Given the description of an element on the screen output the (x, y) to click on. 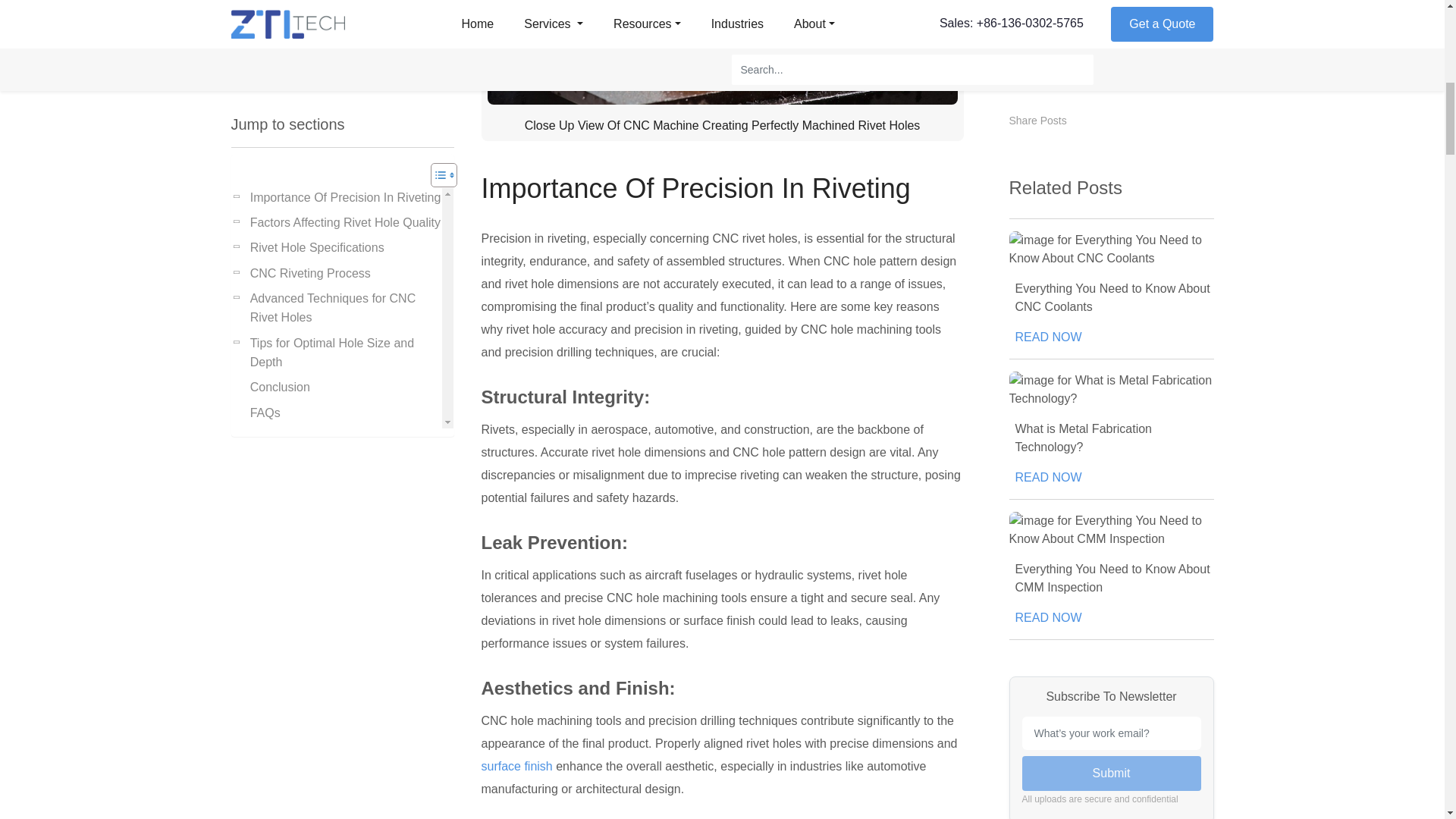
Submit (1111, 178)
